Given the description of an element on the screen output the (x, y) to click on. 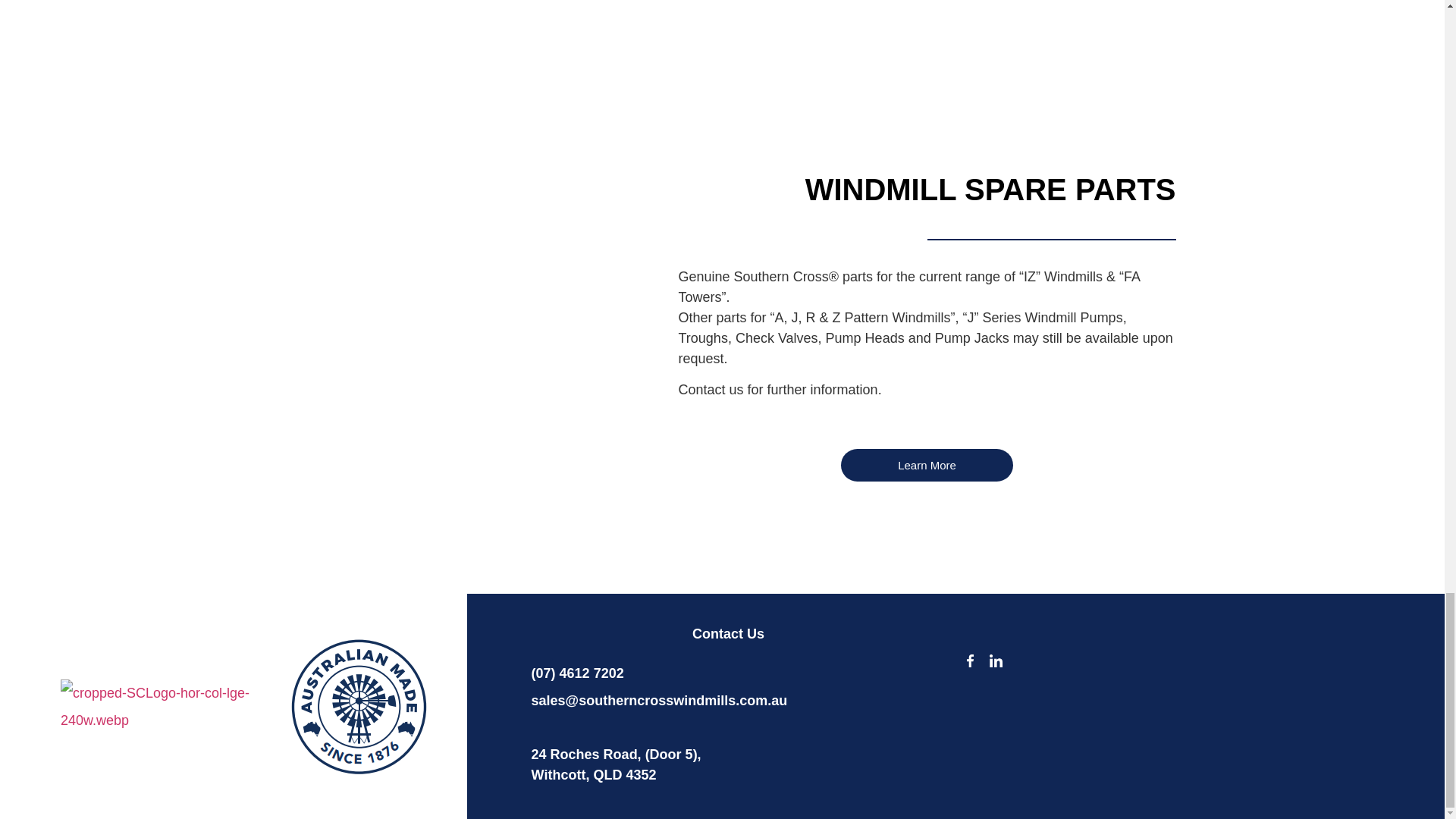
cropped-SCLogo-hor-col-lge-240w.webp (162, 706)
